Given the description of an element on the screen output the (x, y) to click on. 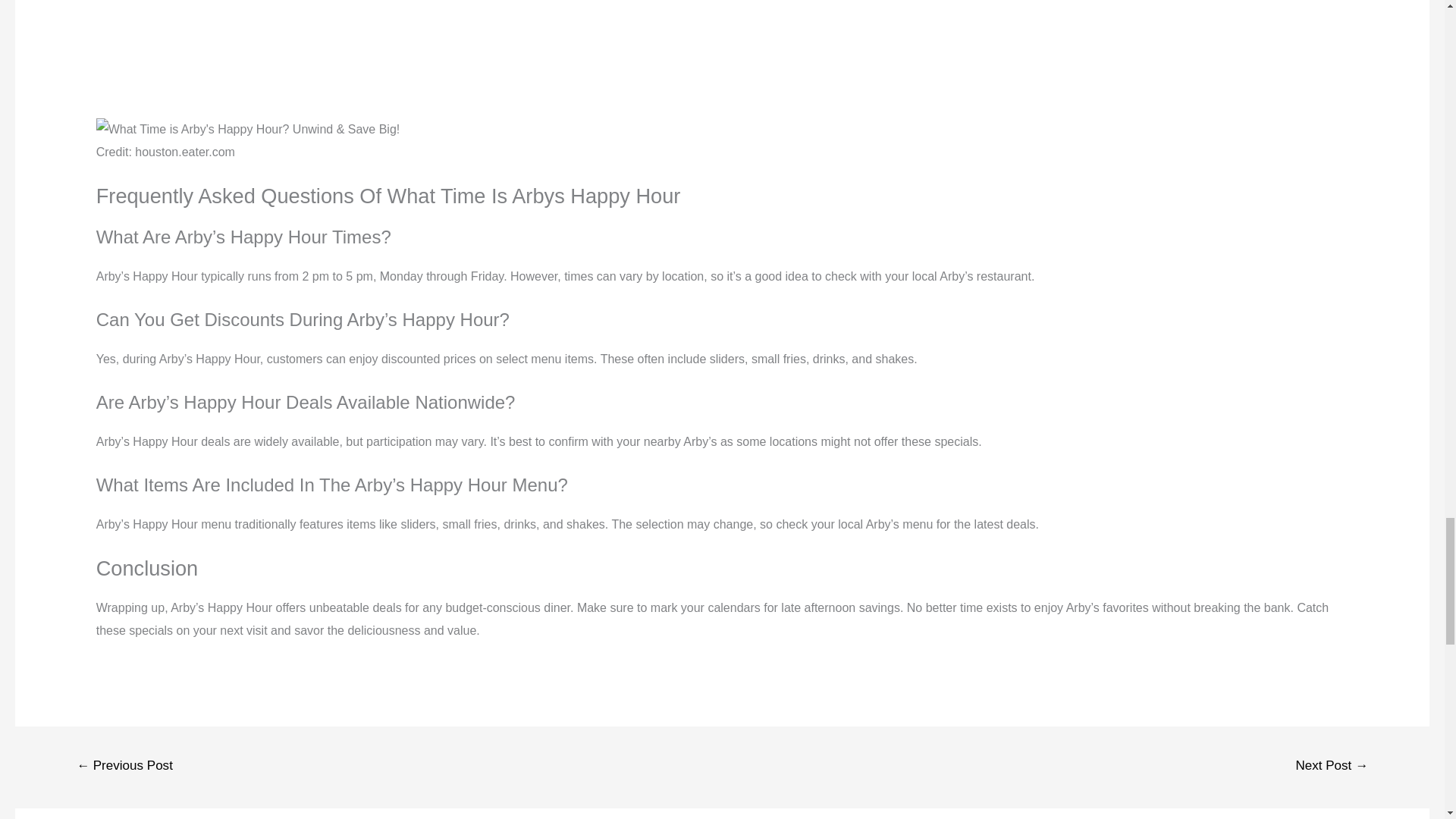
Sesame Street: Will.i.am Sings "What I Am" (722, 47)
